Given the description of an element on the screen output the (x, y) to click on. 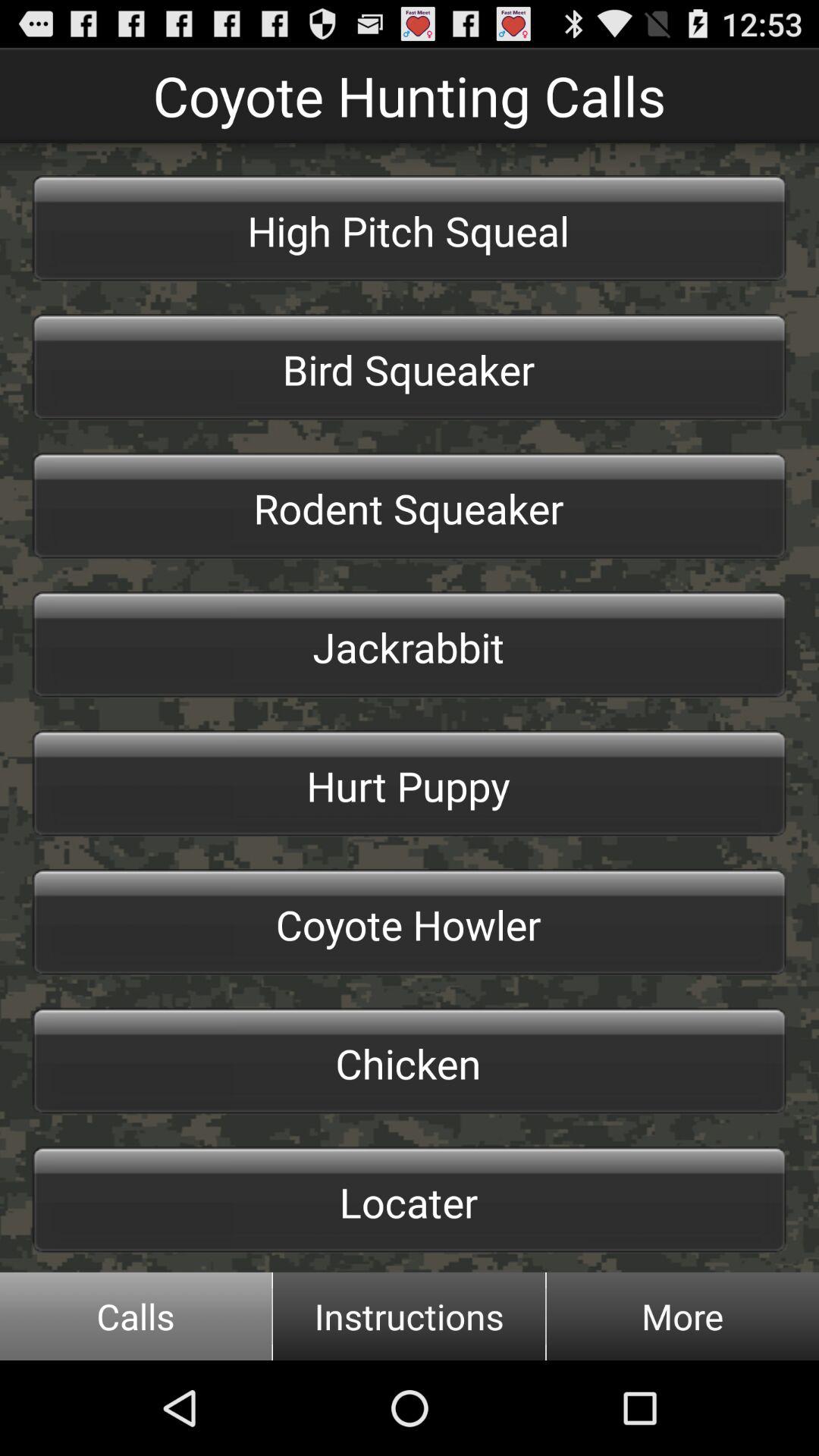
scroll to chicken button (409, 1060)
